Given the description of an element on the screen output the (x, y) to click on. 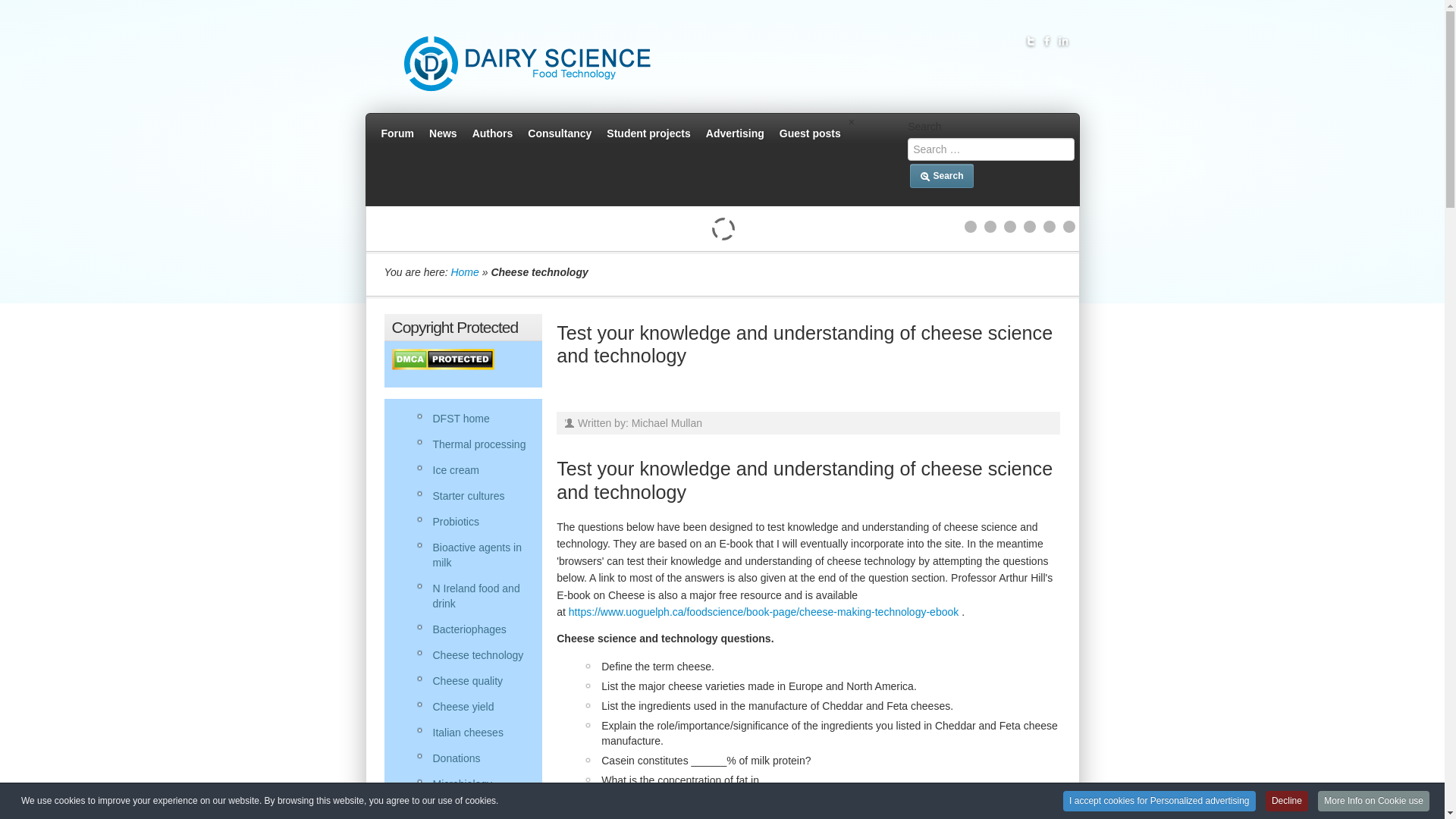
Microbiology (473, 783)
Cheese yield (473, 706)
Advertising (734, 133)
News (443, 133)
Cheese quality (473, 680)
Authors (492, 133)
Bioactive agents in milk (473, 555)
Ice cream (473, 469)
Search (941, 175)
Probiotics (473, 521)
Consultancy (558, 133)
Italian cheeses (473, 731)
Linkedin (1063, 40)
Guest posts (809, 133)
Facebook (1046, 40)
